Given the description of an element on the screen output the (x, y) to click on. 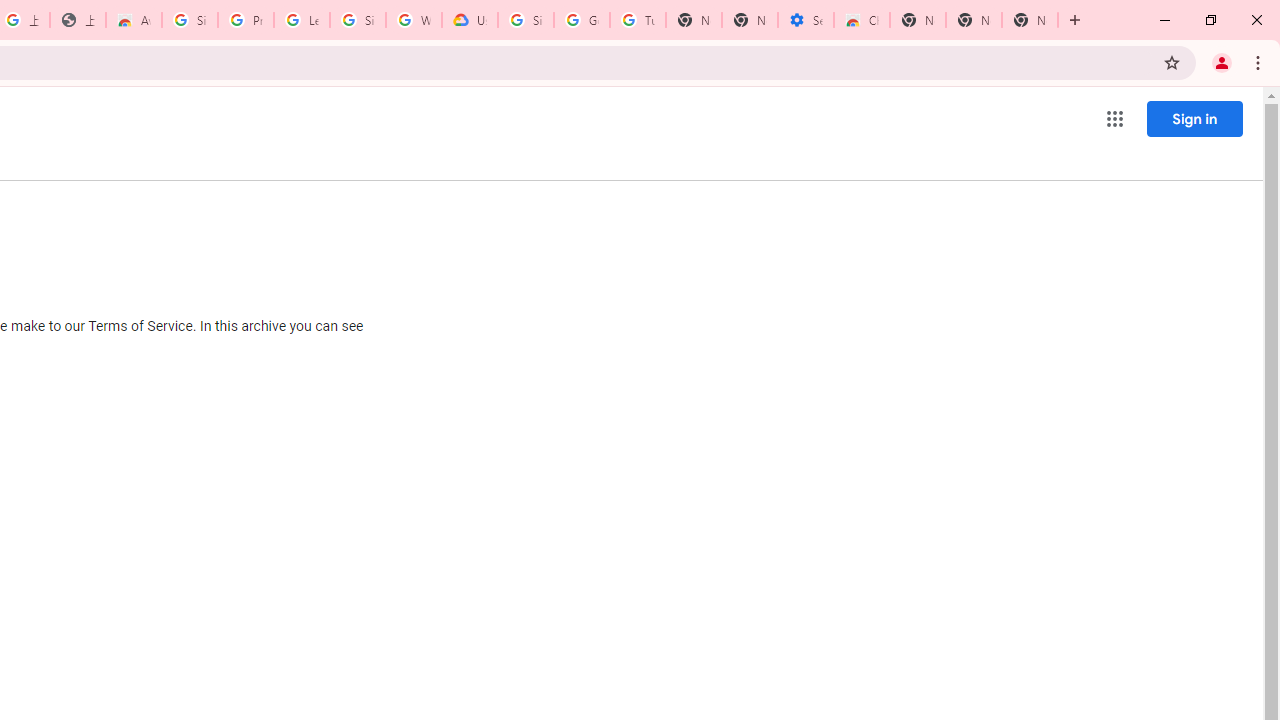
Google Account Help (582, 20)
Chrome Web Store - Accessibility extensions (861, 20)
New Tab (917, 20)
Sign in - Google Accounts (189, 20)
New Tab (1030, 20)
Awesome Screen Recorder & Screenshot - Chrome Web Store (134, 20)
Turn cookies on or off - Computer - Google Account Help (637, 20)
Who are Google's partners? - Privacy and conditions - Google (413, 20)
